Given the description of an element on the screen output the (x, y) to click on. 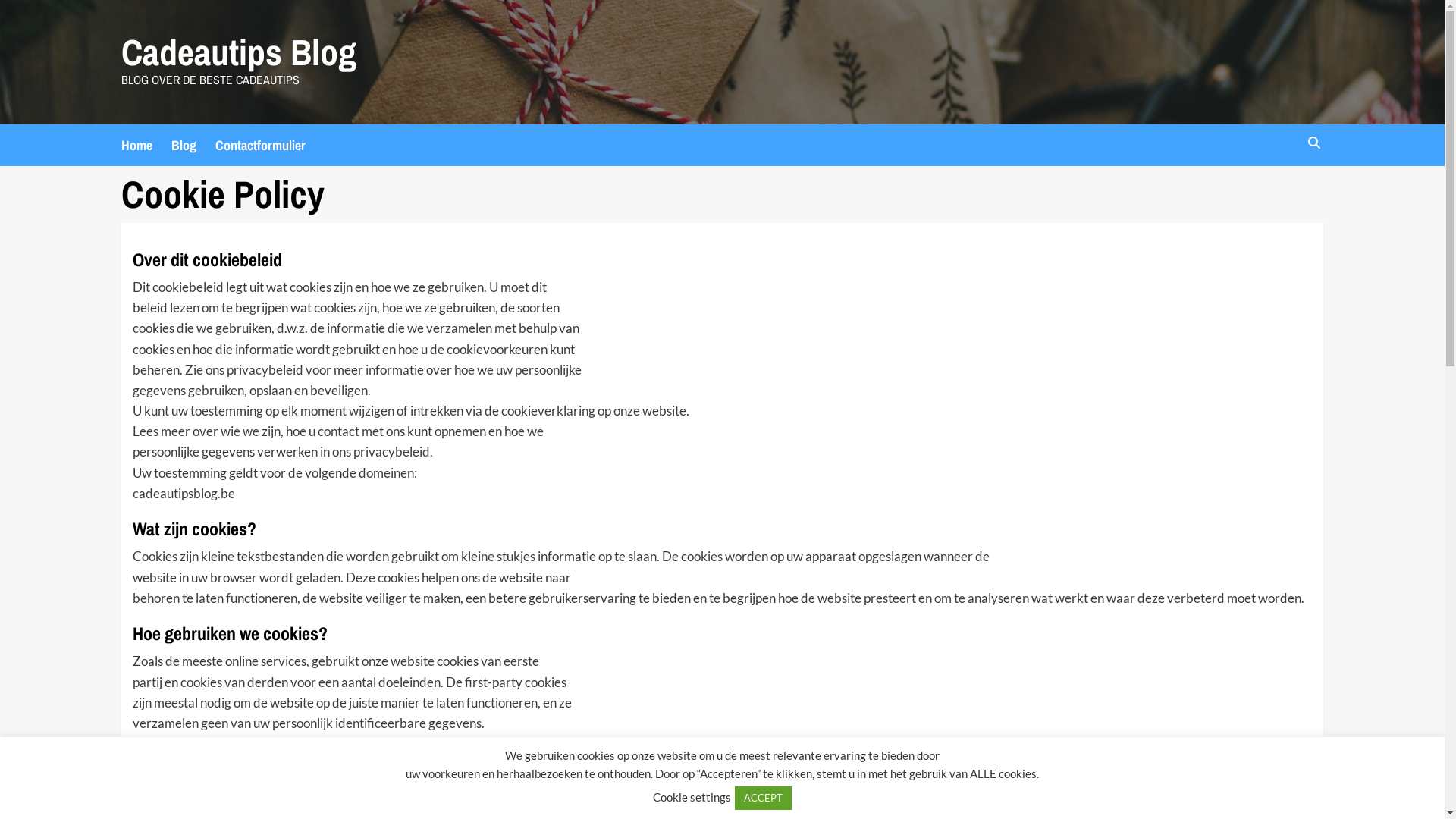
ACCEPT Element type: text (762, 797)
Search Element type: hover (1313, 142)
Home Element type: text (146, 145)
Contactformulier Element type: text (269, 145)
Zoeken Element type: text (1278, 189)
Blog Element type: text (193, 145)
Cookie settings Element type: text (691, 796)
Cadeautips Blog Element type: text (238, 51)
